Given the description of an element on the screen output the (x, y) to click on. 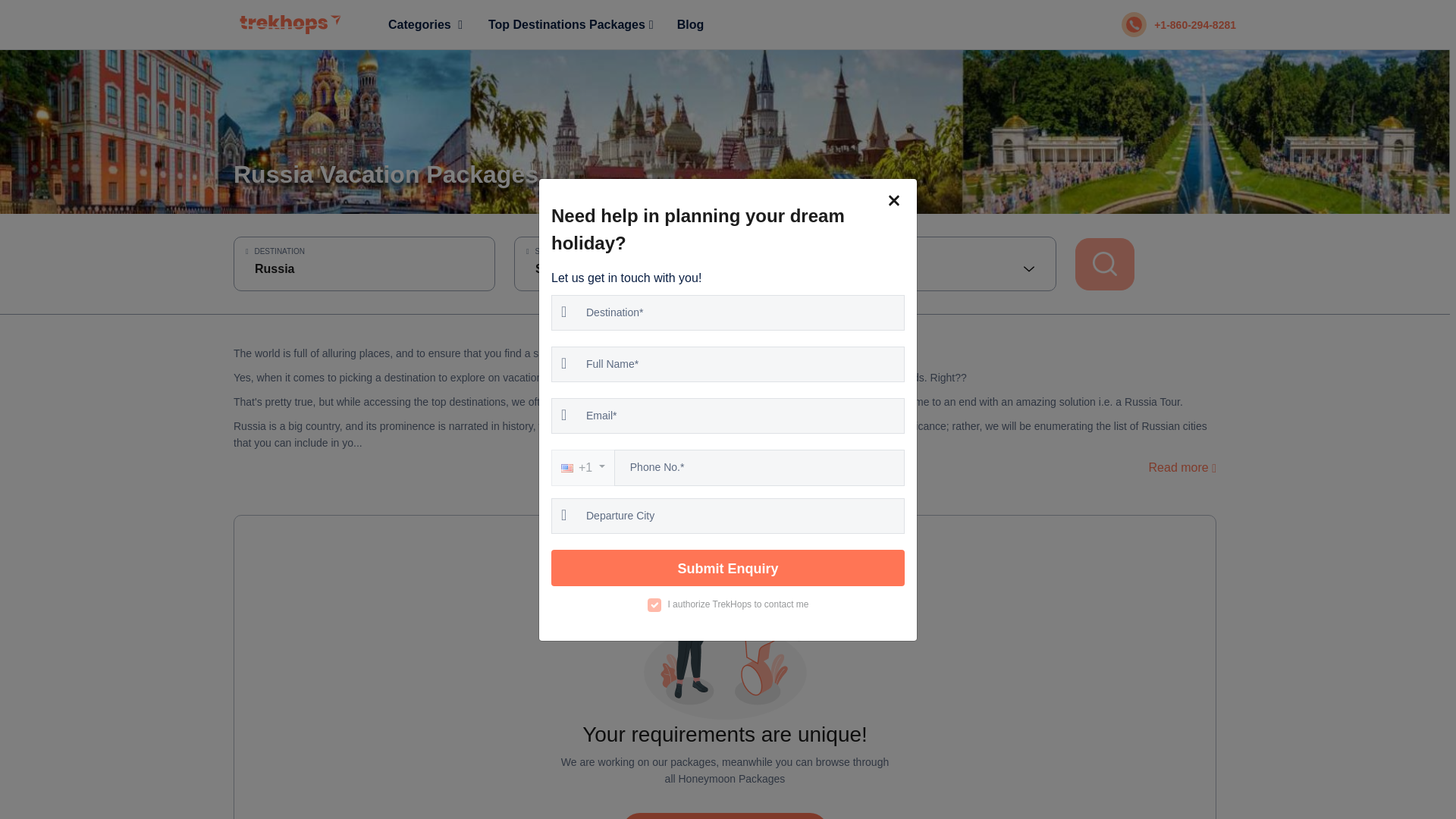
Russia (364, 268)
Read more (1181, 467)
Top Destinations Packages (570, 24)
Blog (690, 24)
Categories (424, 24)
on (654, 603)
July, 2024 (924, 268)
Explore Packages (724, 816)
Select duration (643, 268)
